Given the description of an element on the screen output the (x, y) to click on. 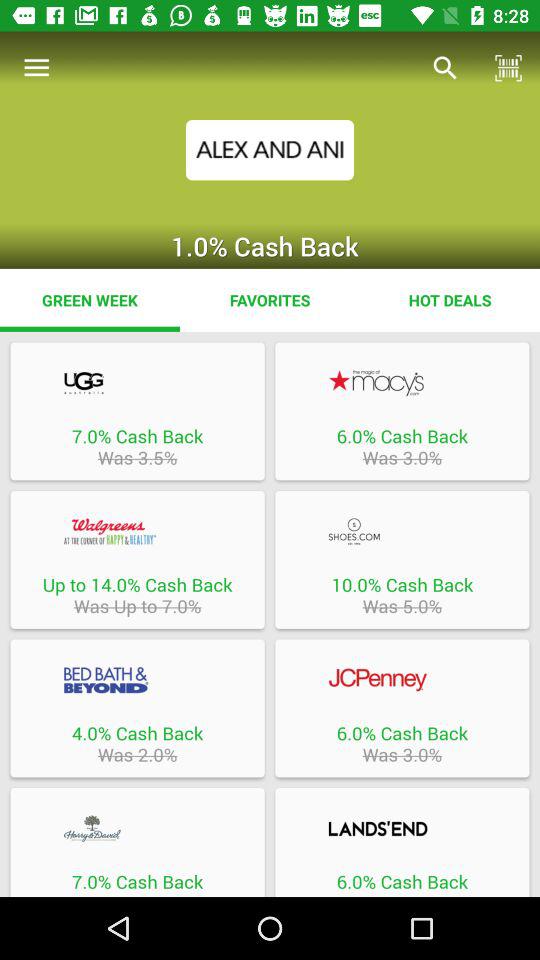
turn on the app to the right of the green week icon (270, 299)
